Given the description of an element on the screen output the (x, y) to click on. 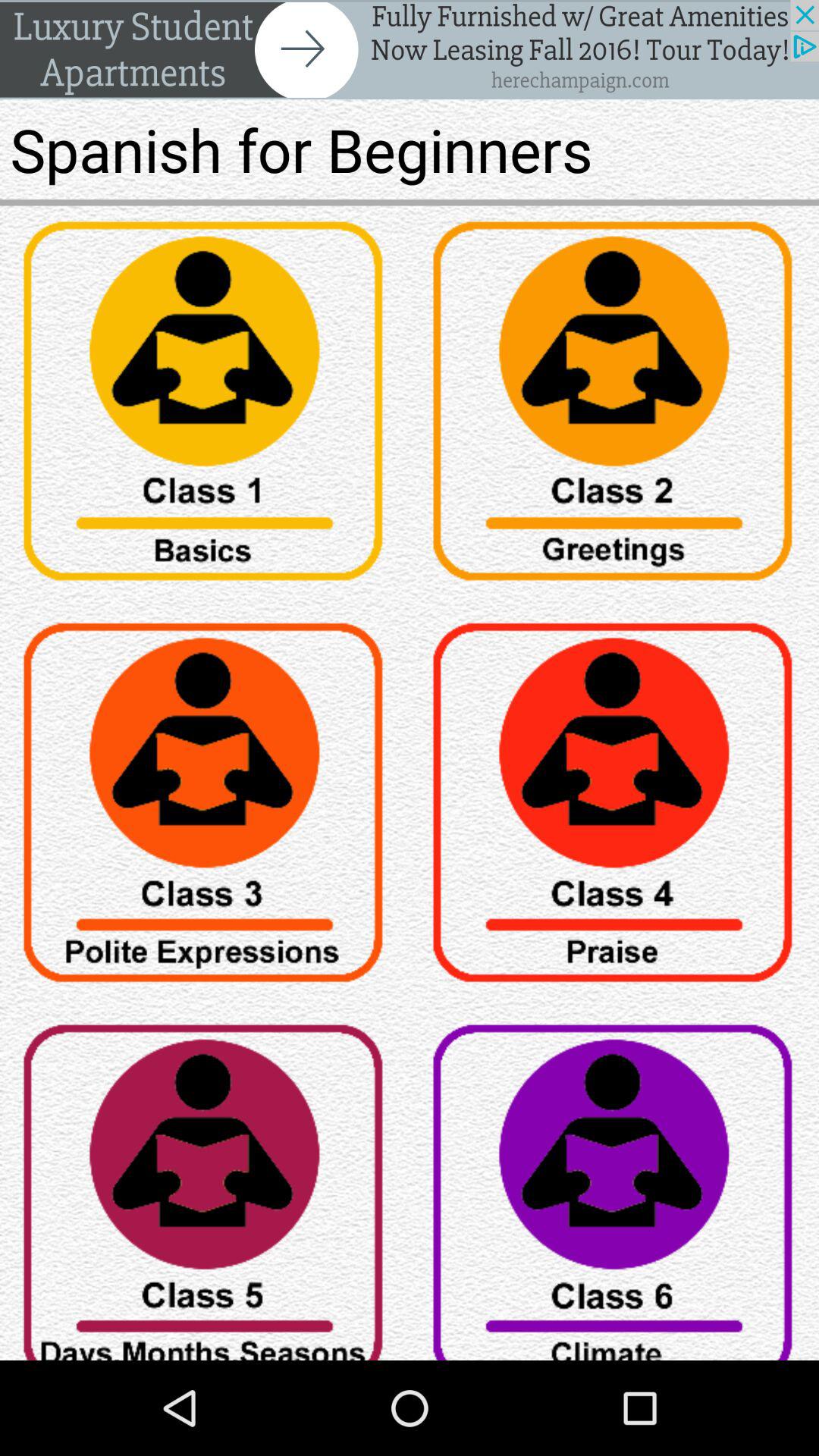
icon page (614, 807)
